Given the description of an element on the screen output the (x, y) to click on. 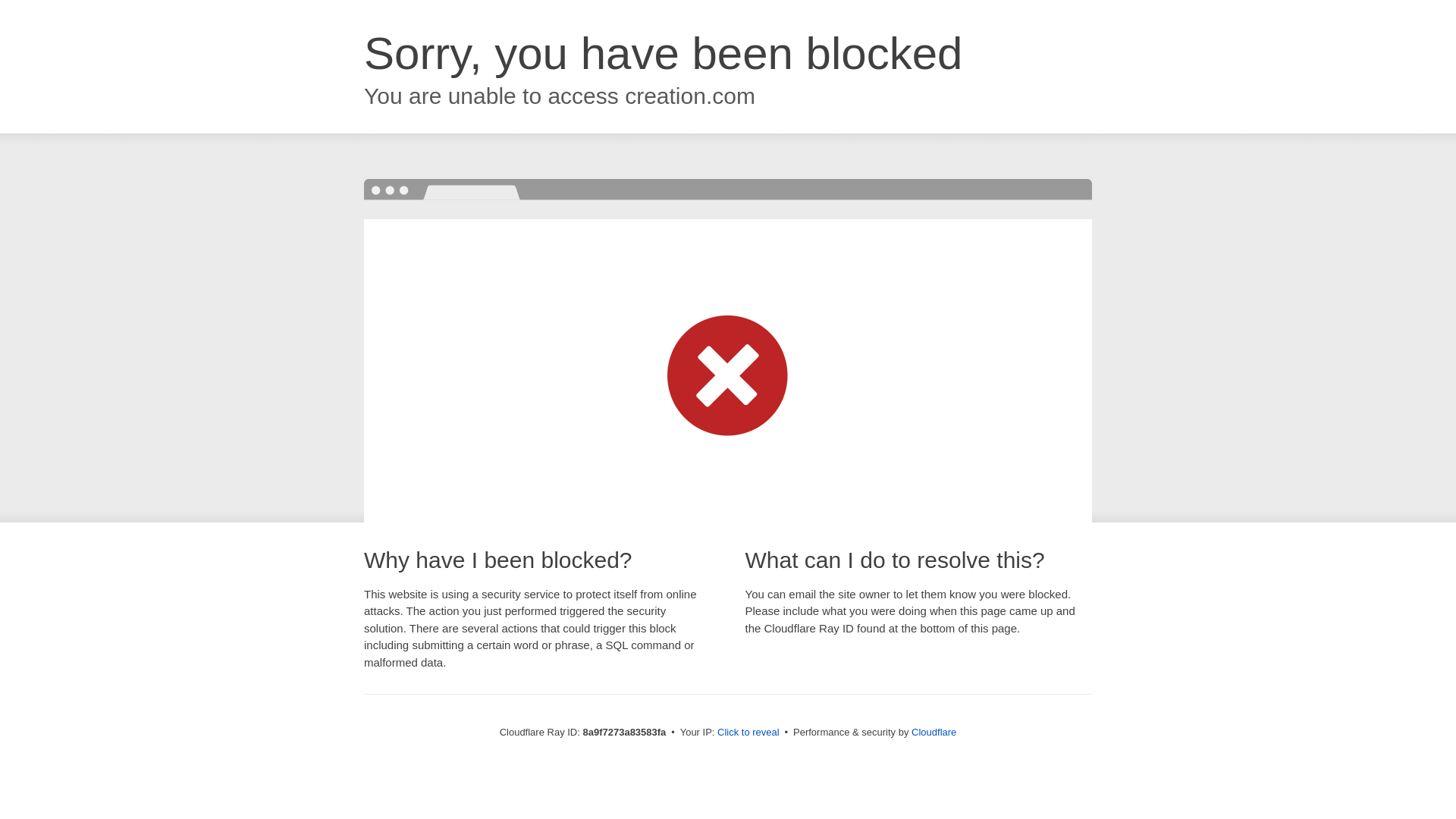
Click to reveal (747, 732)
Cloudflare (933, 731)
